Given the description of an element on the screen output the (x, y) to click on. 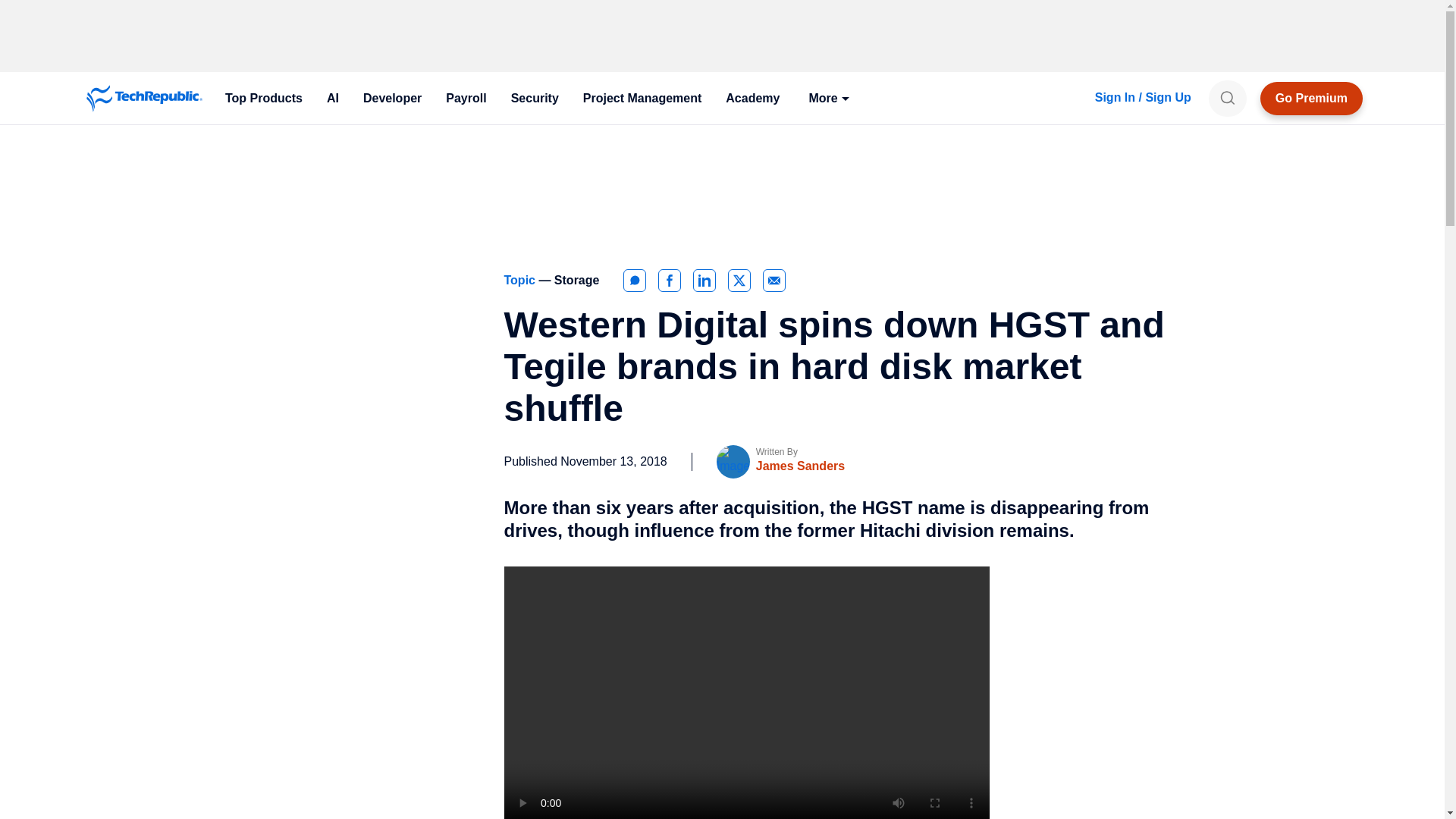
Payroll (465, 98)
Topic (520, 279)
Project Management (641, 98)
Academy (752, 98)
Security (534, 98)
Go Premium (1311, 98)
TechRepublic (143, 98)
Top Products (263, 98)
TechRepublic Premium (1311, 98)
Developer (392, 98)
